Given the description of an element on the screen output the (x, y) to click on. 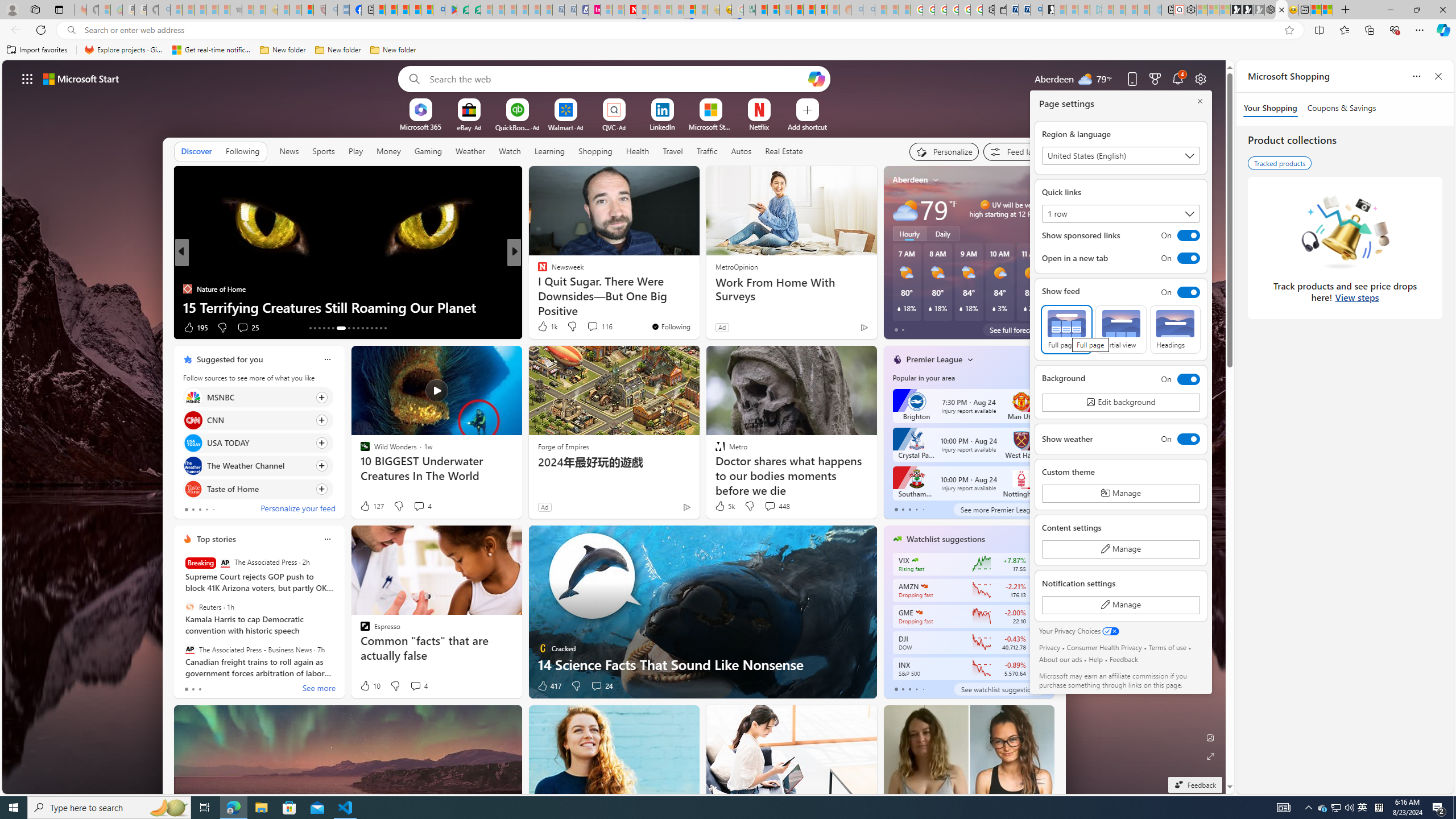
New Report Confirms 2023 Was Record Hot | Watch - Sleeping (223, 9)
View comments 96 Comment (588, 327)
Open in a new tab On (1120, 257)
The Best Time to Go to Bed According to Your Age (697, 307)
View comments 4 Comment (414, 685)
Microsoft start (81, 78)
On (1176, 378)
Privacy (1050, 646)
View comments 48 Comment (592, 327)
